Given the description of an element on the screen output the (x, y) to click on. 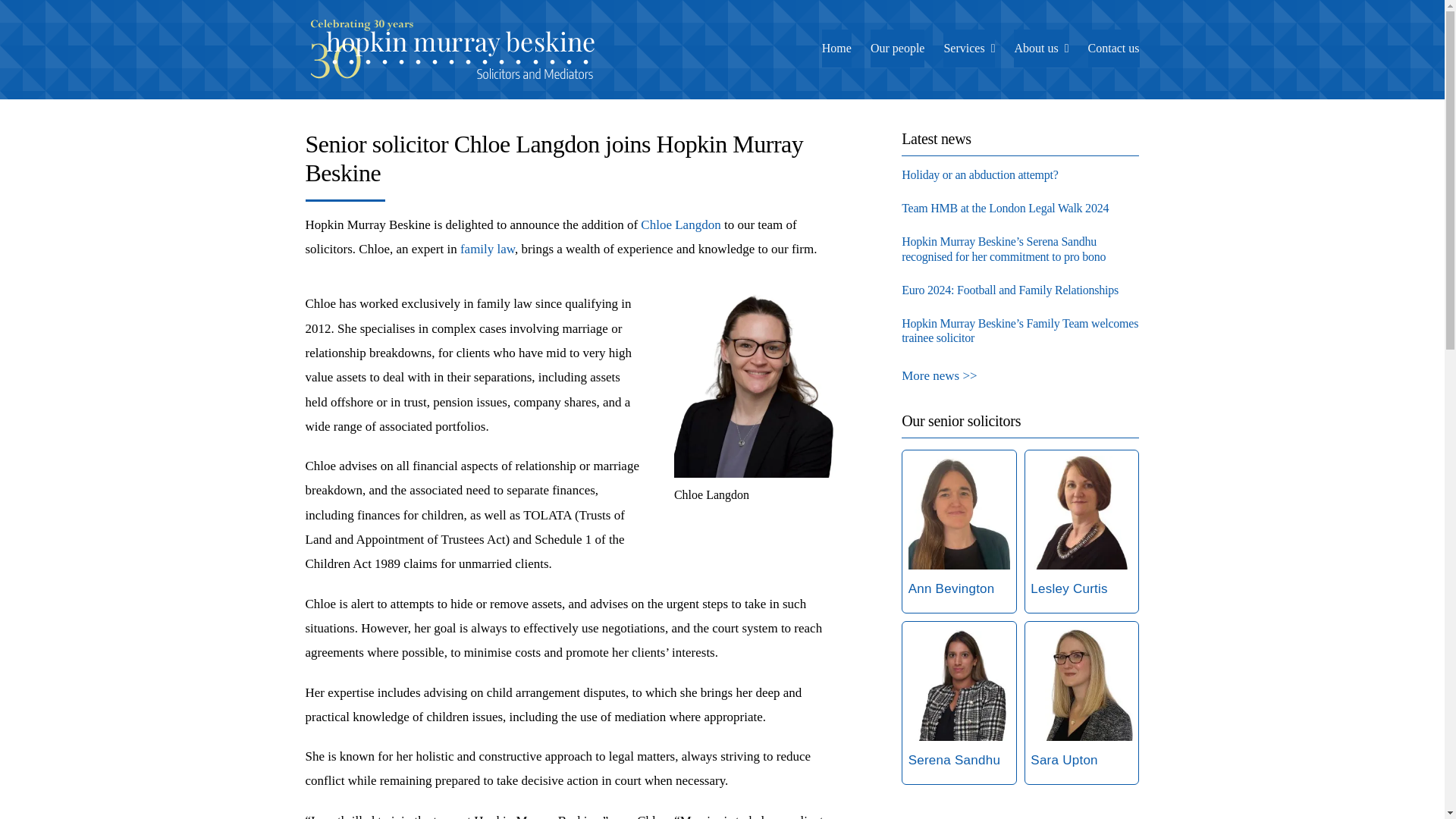
Our people (897, 48)
family law (487, 248)
About us (1040, 48)
Holiday or an abduction attempt? (979, 174)
Contact us (1113, 48)
Chloe Langdon (680, 224)
Team HMB at the London Legal Walk 2024 (1004, 207)
Services (968, 48)
Euro 2024: Football and Family Relationships (1009, 289)
